Given the description of an element on the screen output the (x, y) to click on. 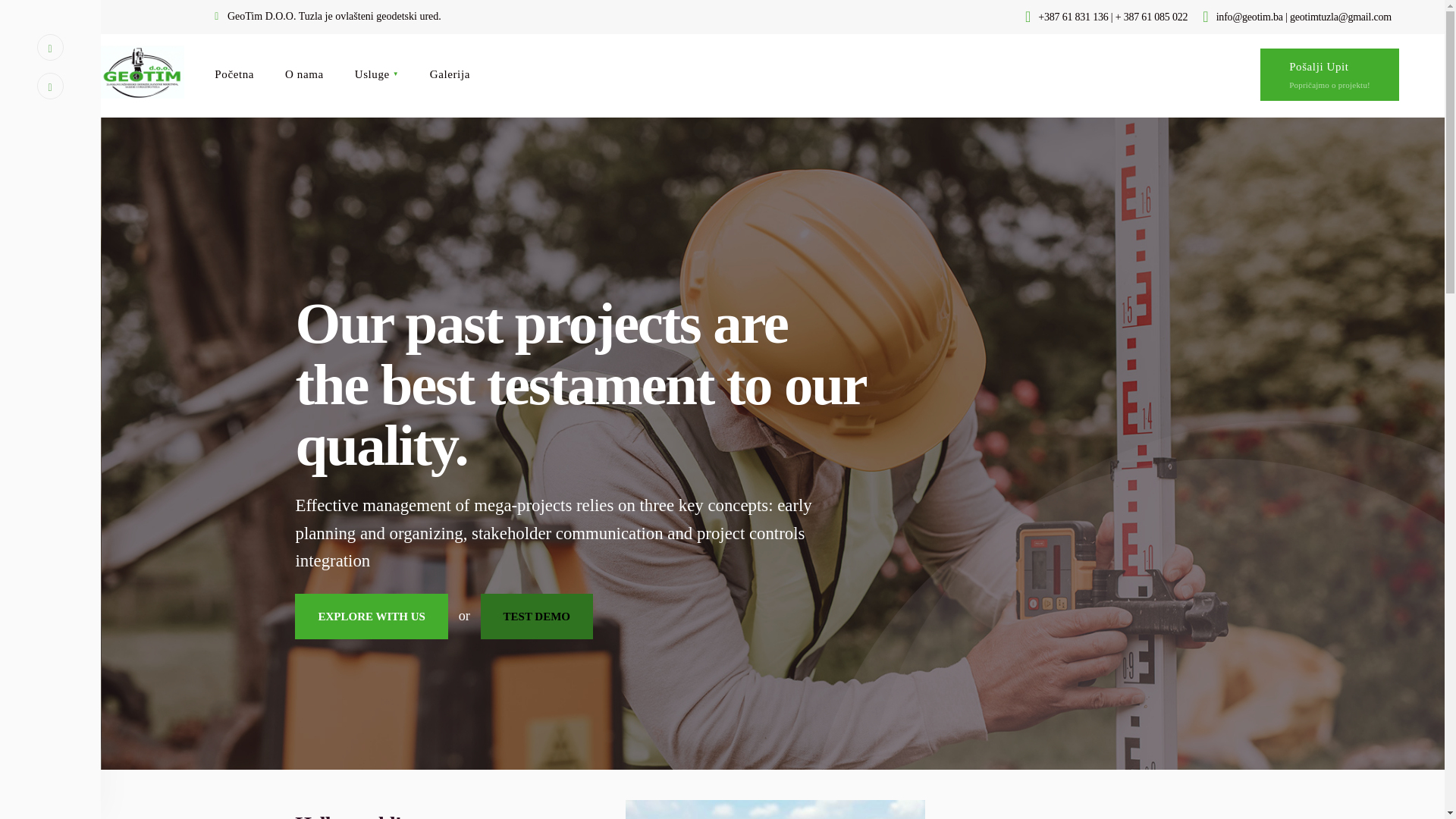
EXPLORE WITH US (370, 616)
O nama (304, 74)
TEST DEMO (537, 616)
Galerija (449, 74)
Hello world! (348, 815)
